Given the description of an element on the screen output the (x, y) to click on. 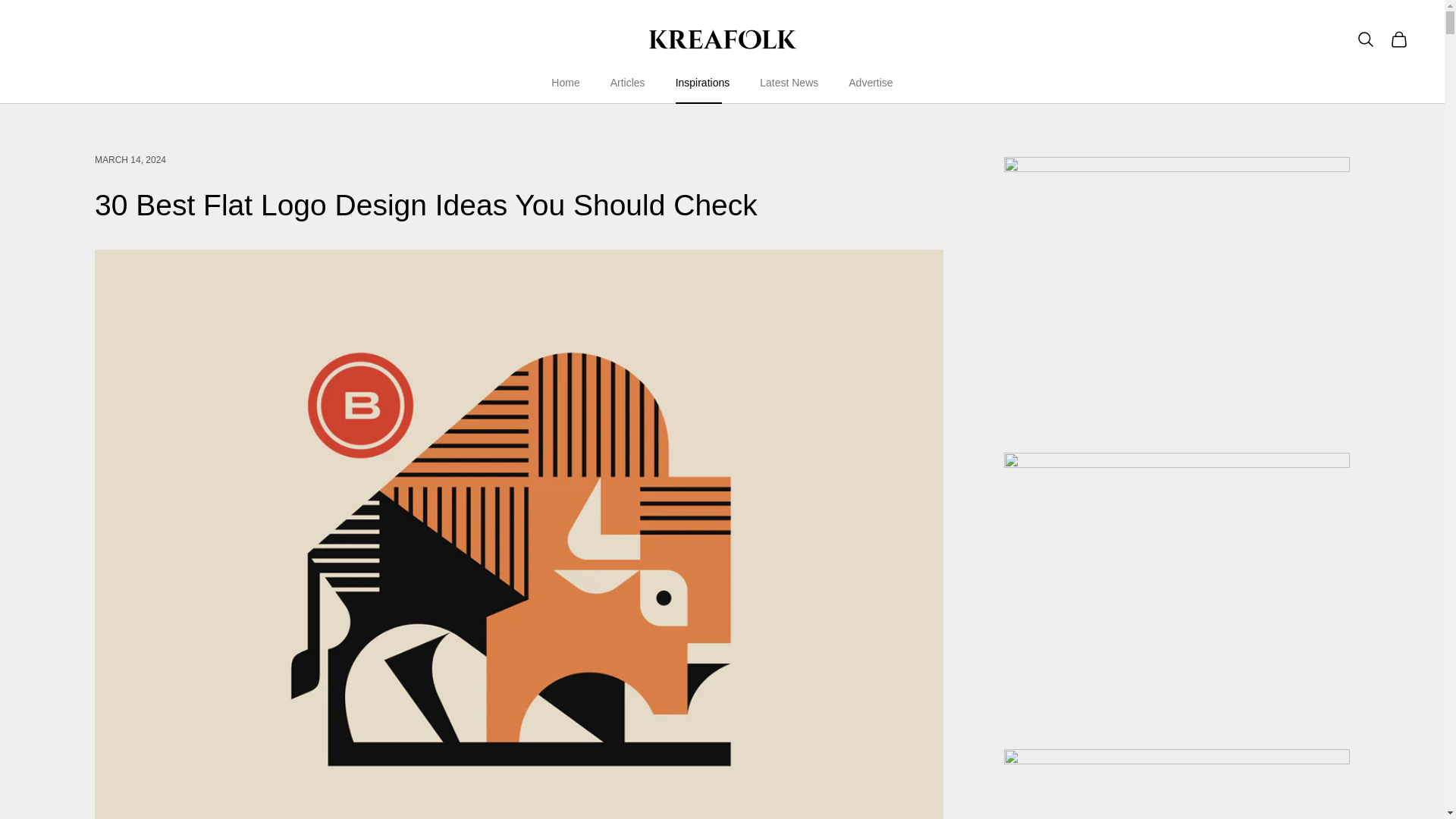
Articles (627, 83)
Inspirations (702, 83)
Latest News (789, 83)
Open search (1365, 39)
Open cart (1398, 39)
Advertise (870, 83)
Home (565, 83)
Kreafolk (721, 38)
